Given the description of an element on the screen output the (x, y) to click on. 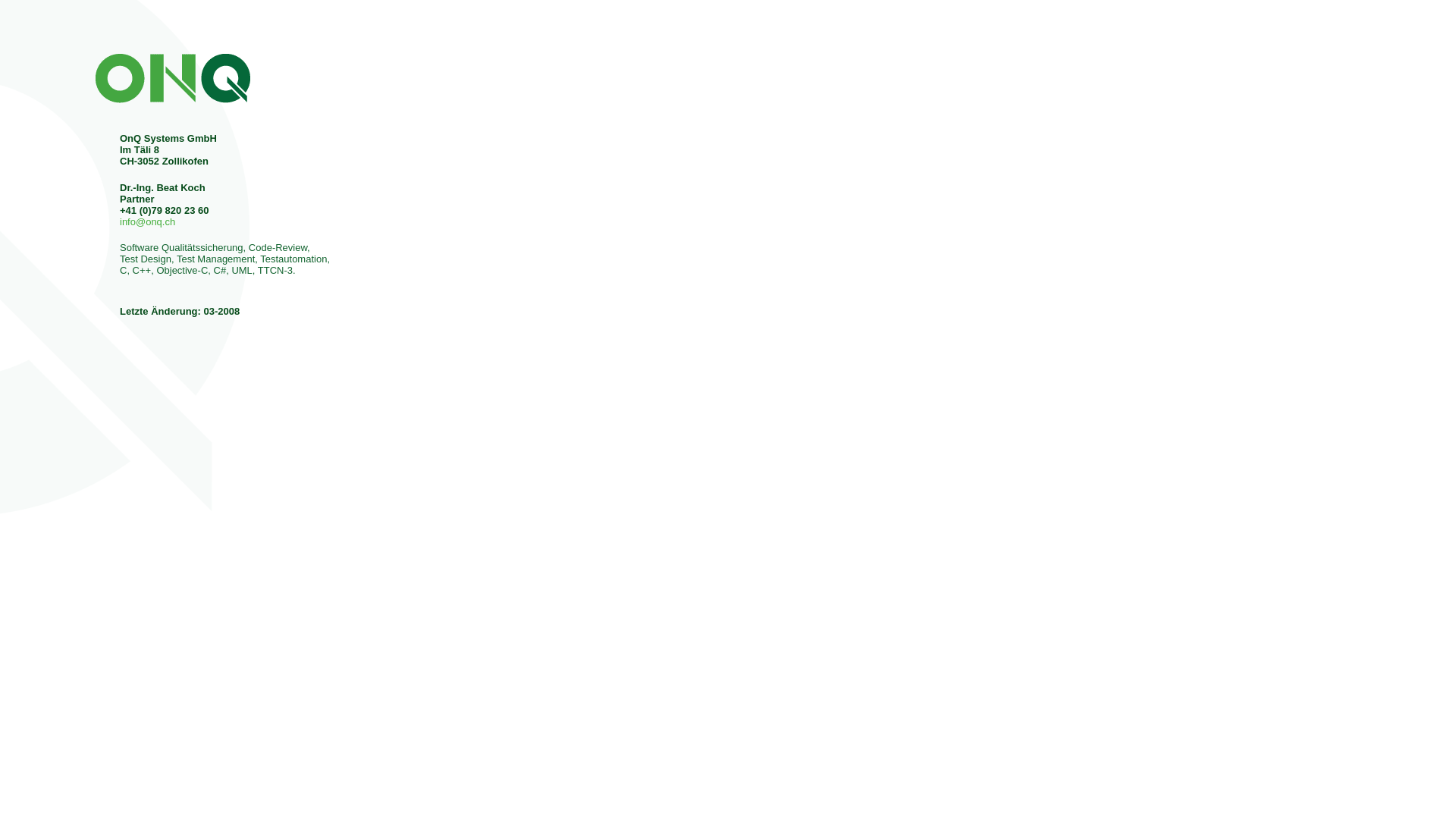
info@onq.ch Element type: text (147, 220)
